Given the description of an element on the screen output the (x, y) to click on. 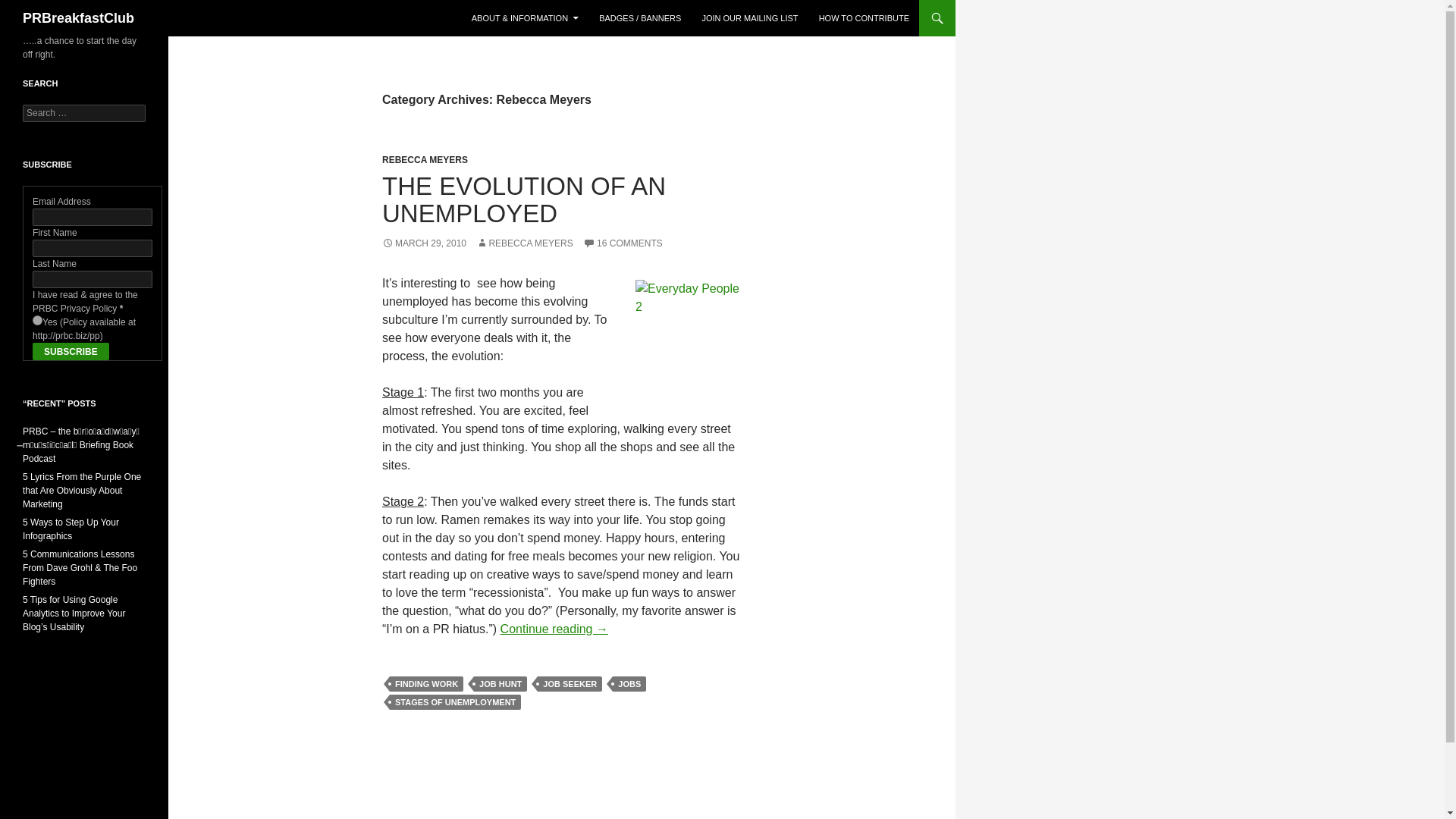
PRBreakfastClub (78, 17)
REBECCA MEYERS (424, 159)
FINDING WORK (426, 683)
16 COMMENTS (622, 243)
THE EVOLUTION OF AN UNEMPLOYED (523, 199)
MARCH 29, 2010 (423, 243)
Search (30, 8)
JOB HUNT (500, 683)
HOW TO CONTRIBUTE (863, 18)
STAGES OF UNEMPLOYMENT (455, 702)
